Given the description of an element on the screen output the (x, y) to click on. 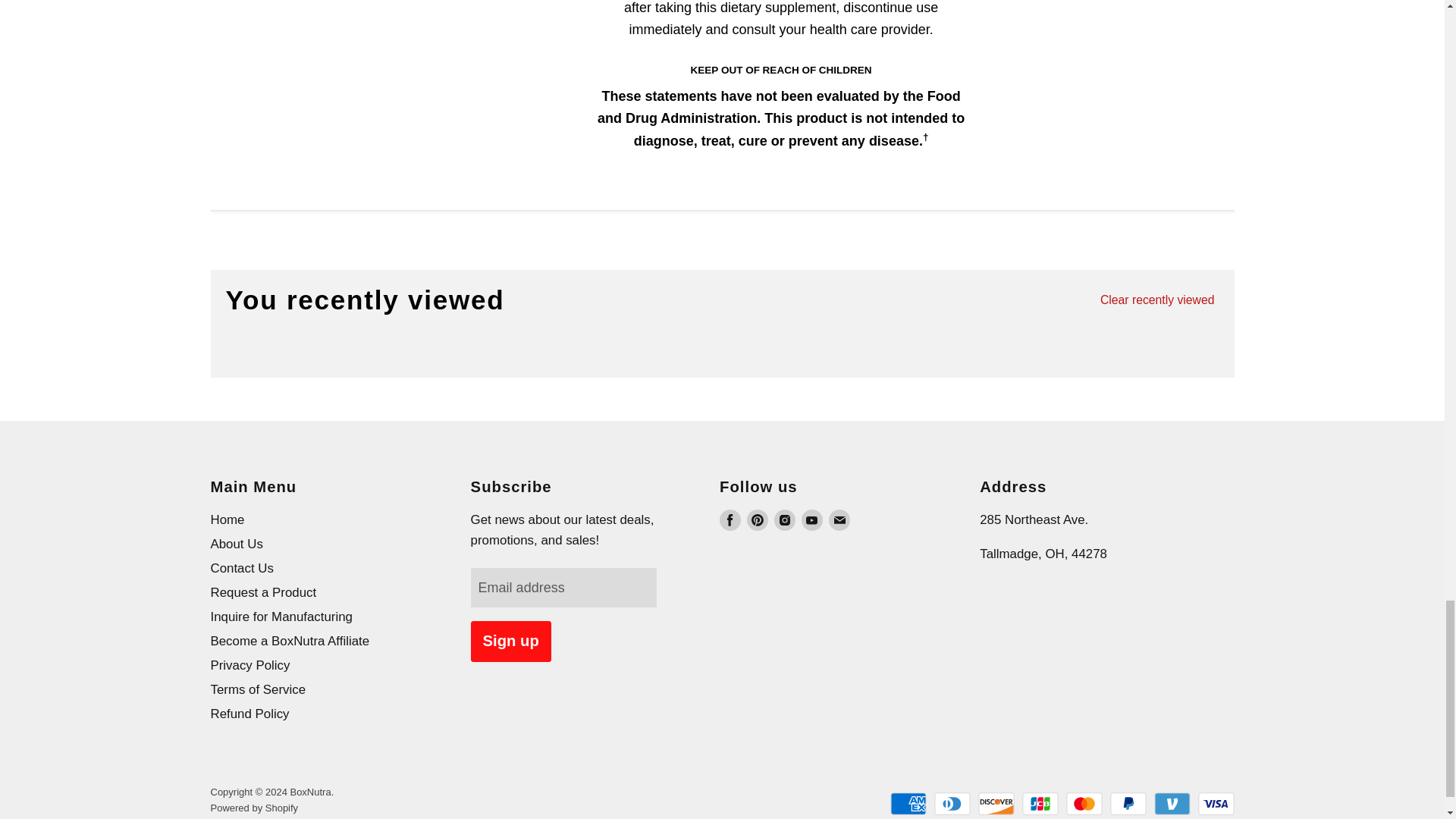
Youtube (812, 519)
Pinterest (757, 519)
American Express (907, 803)
JCB (1040, 803)
Facebook (730, 519)
E-mail (839, 519)
Mastercard (1083, 803)
Diners Club (952, 803)
Discover (996, 803)
Instagram (784, 519)
